Given the description of an element on the screen output the (x, y) to click on. 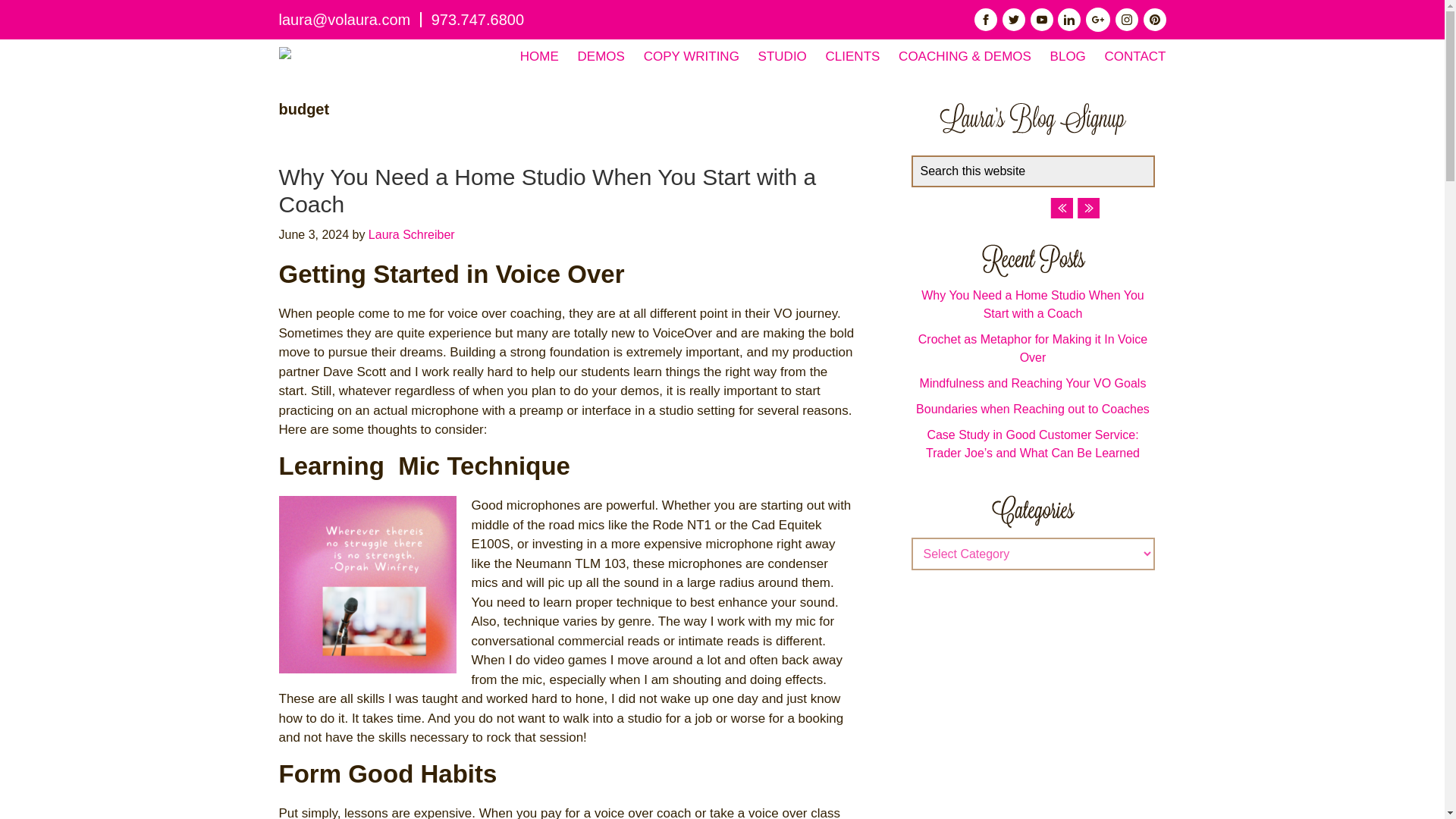
facebook (985, 19)
Search (1160, 163)
twitter (1014, 19)
Search (1160, 163)
Linkedin (1069, 19)
DEMOS (601, 56)
Youtube (1041, 19)
COPY WRITING (691, 56)
CLIENTS (852, 56)
Instagram (1126, 19)
STUDIO (782, 56)
Laura Schreiber Voiceovers Recent Post (1031, 260)
GooglePlus (1097, 19)
Laura Schreiber Voiceovers Categories (1032, 511)
HOME (539, 56)
